Given the description of an element on the screen output the (x, y) to click on. 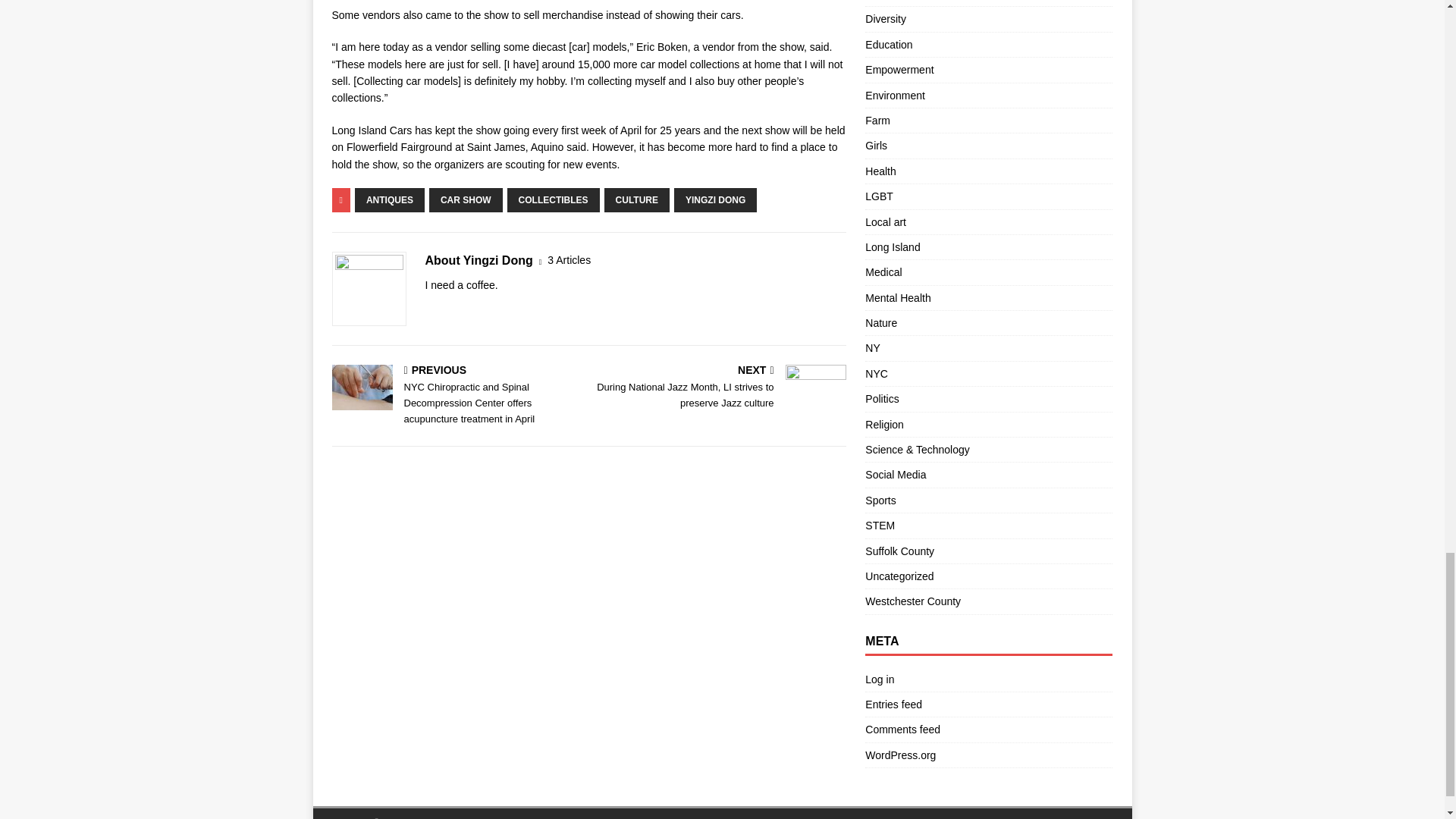
CAR SHOW (465, 200)
More articles written by Yingzi Dong' (569, 260)
CULTURE (636, 200)
ANTIQUES (390, 200)
3 Articles (569, 260)
YINGZI DONG (715, 200)
COLLECTIBLES (552, 200)
